Given the description of an element on the screen output the (x, y) to click on. 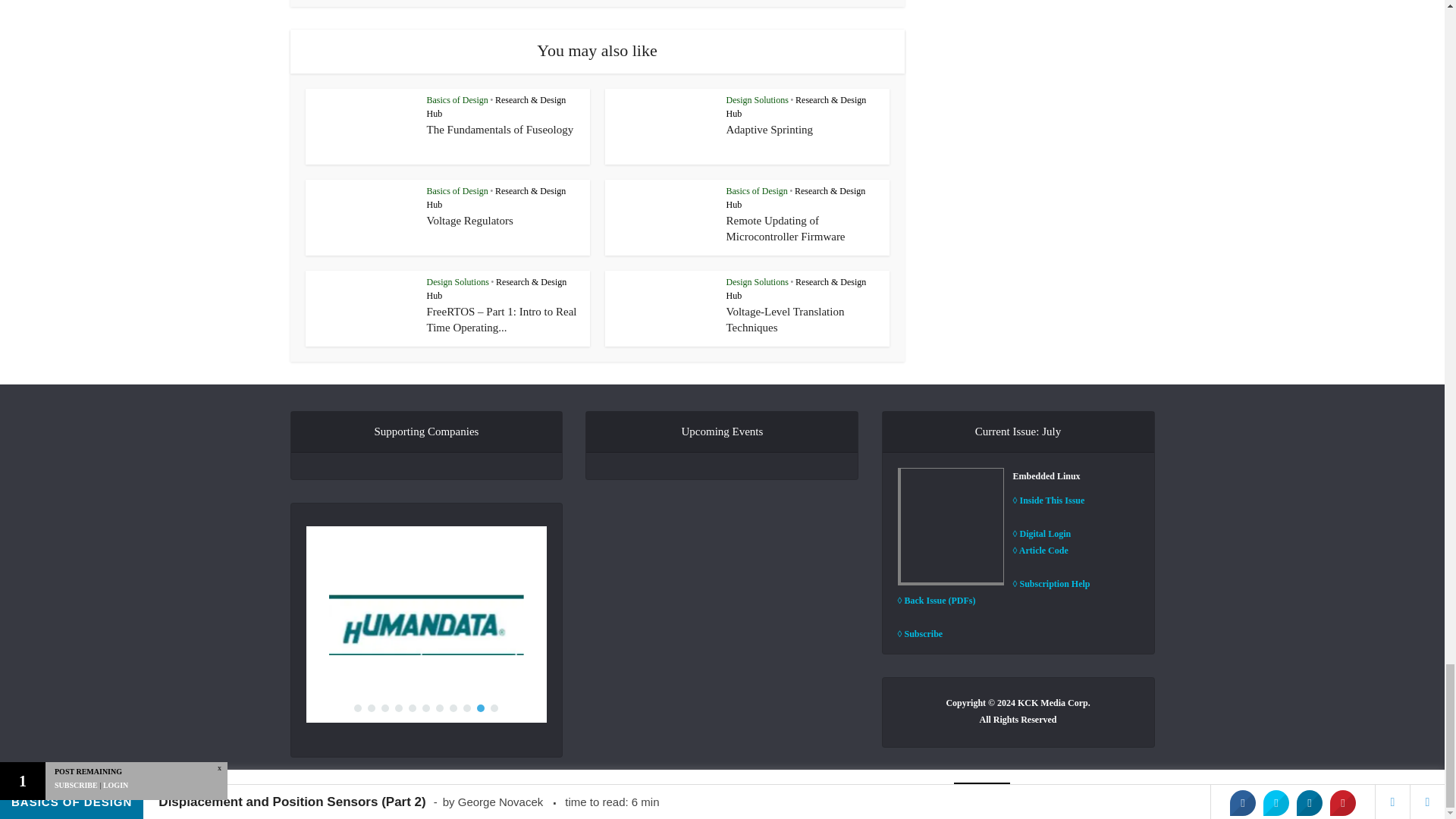
Voltage Regulators (469, 220)
Adaptive Sprinting (769, 129)
The Fundamentals of Fuseology (499, 129)
Voltage-Level Translation Techniques (785, 318)
